Given the description of an element on the screen output the (x, y) to click on. 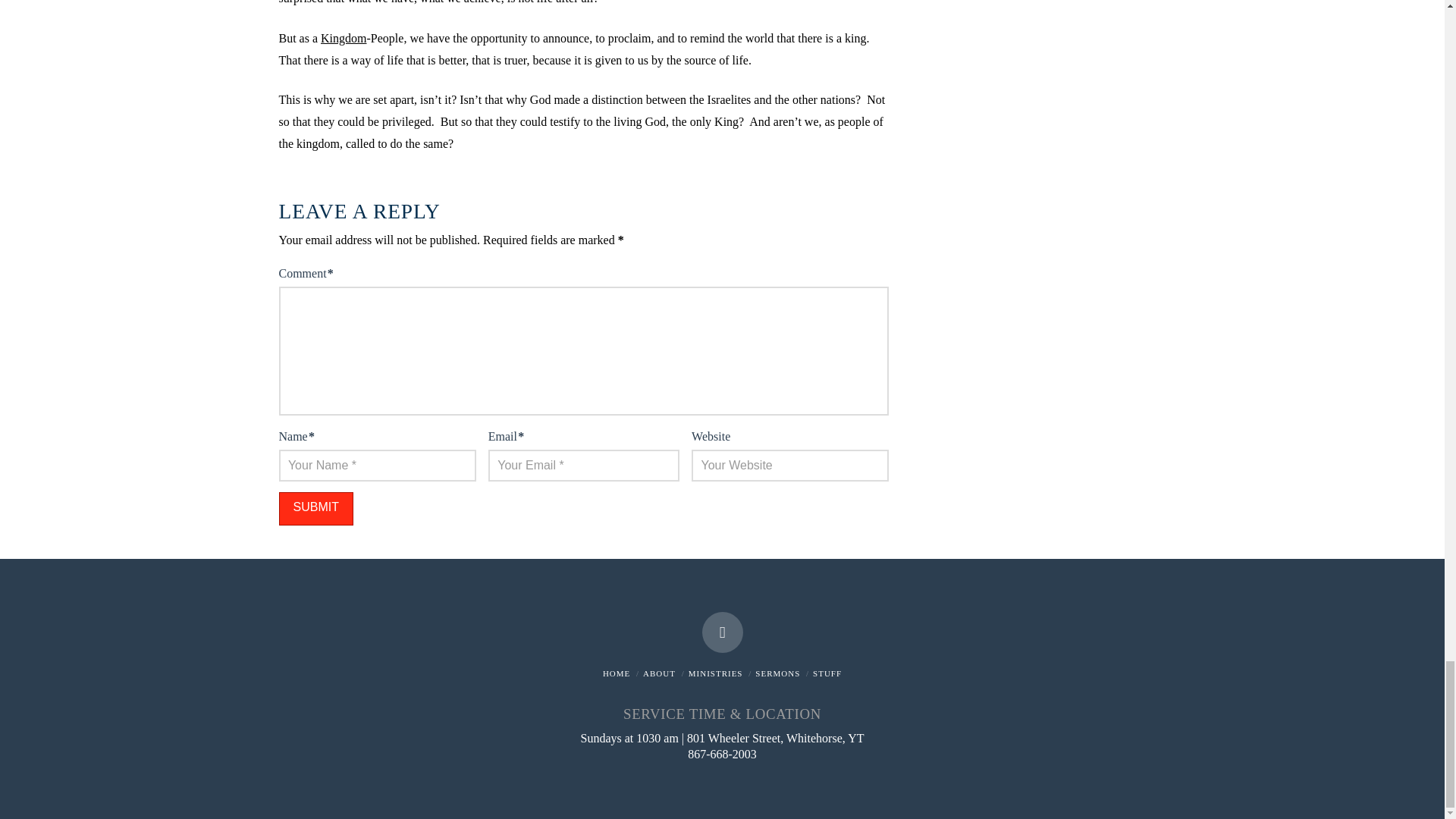
ABOUT (659, 673)
HOME (616, 673)
MINISTRIES (715, 673)
Facebook (721, 631)
STUFF (826, 673)
Submit (316, 509)
SERMONS (777, 673)
Submit (316, 509)
